Given the description of an element on the screen output the (x, y) to click on. 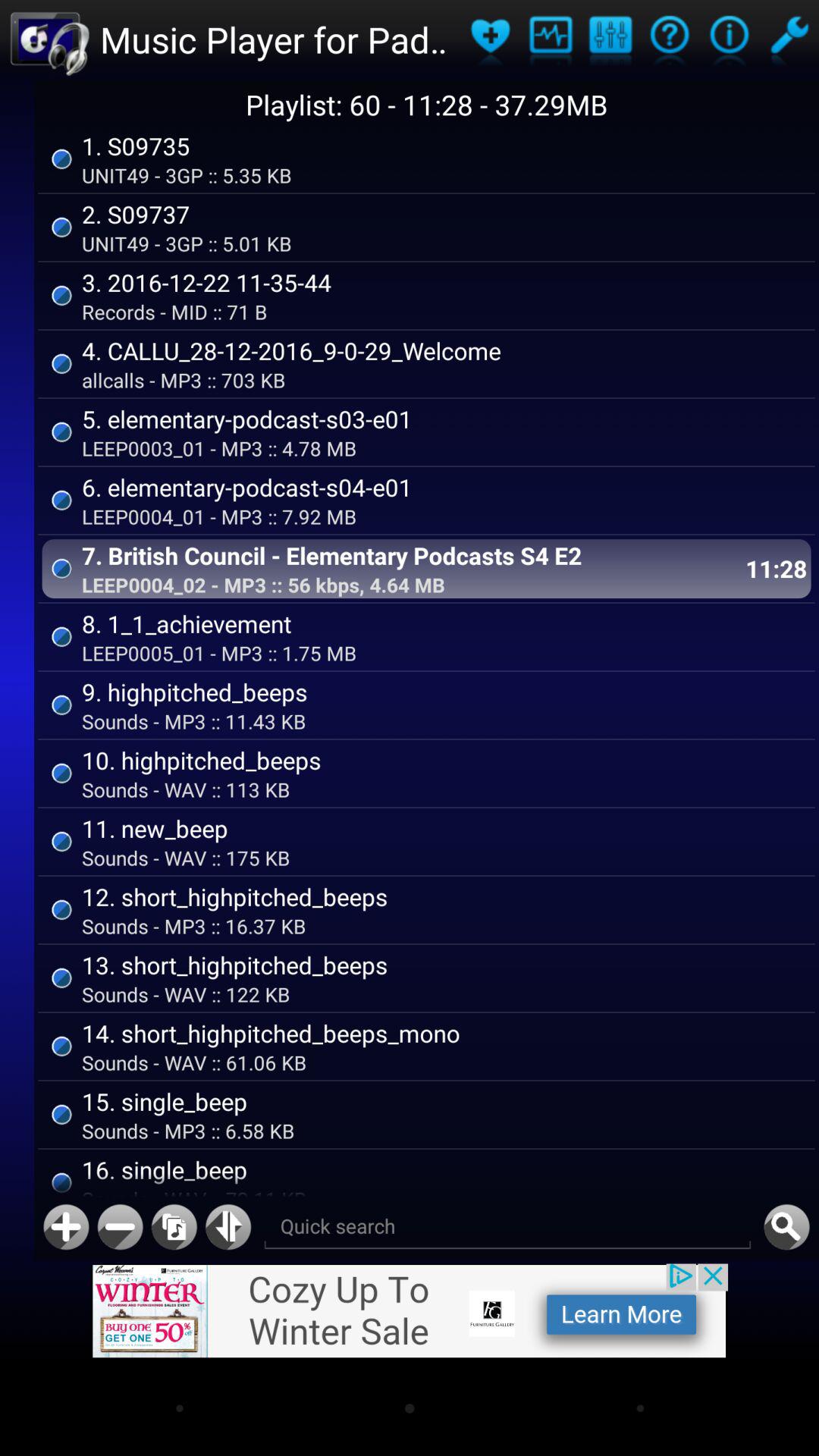
add favorite (490, 39)
